Given the description of an element on the screen output the (x, y) to click on. 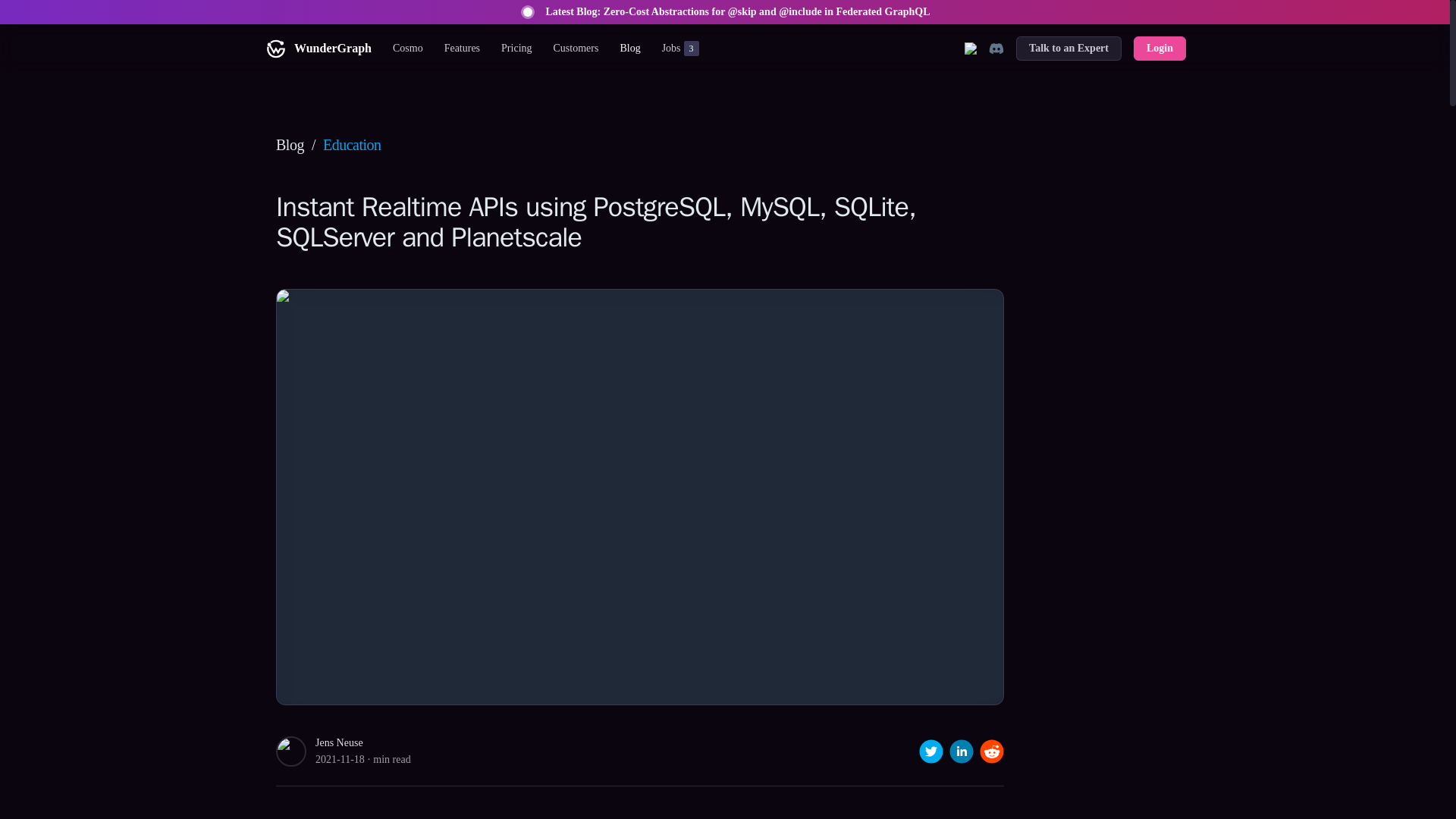
Features (462, 48)
Pricing (516, 48)
WunderGraph (317, 48)
Cosmo (408, 48)
Customers (576, 48)
Blog (675, 48)
